Given the description of an element on the screen output the (x, y) to click on. 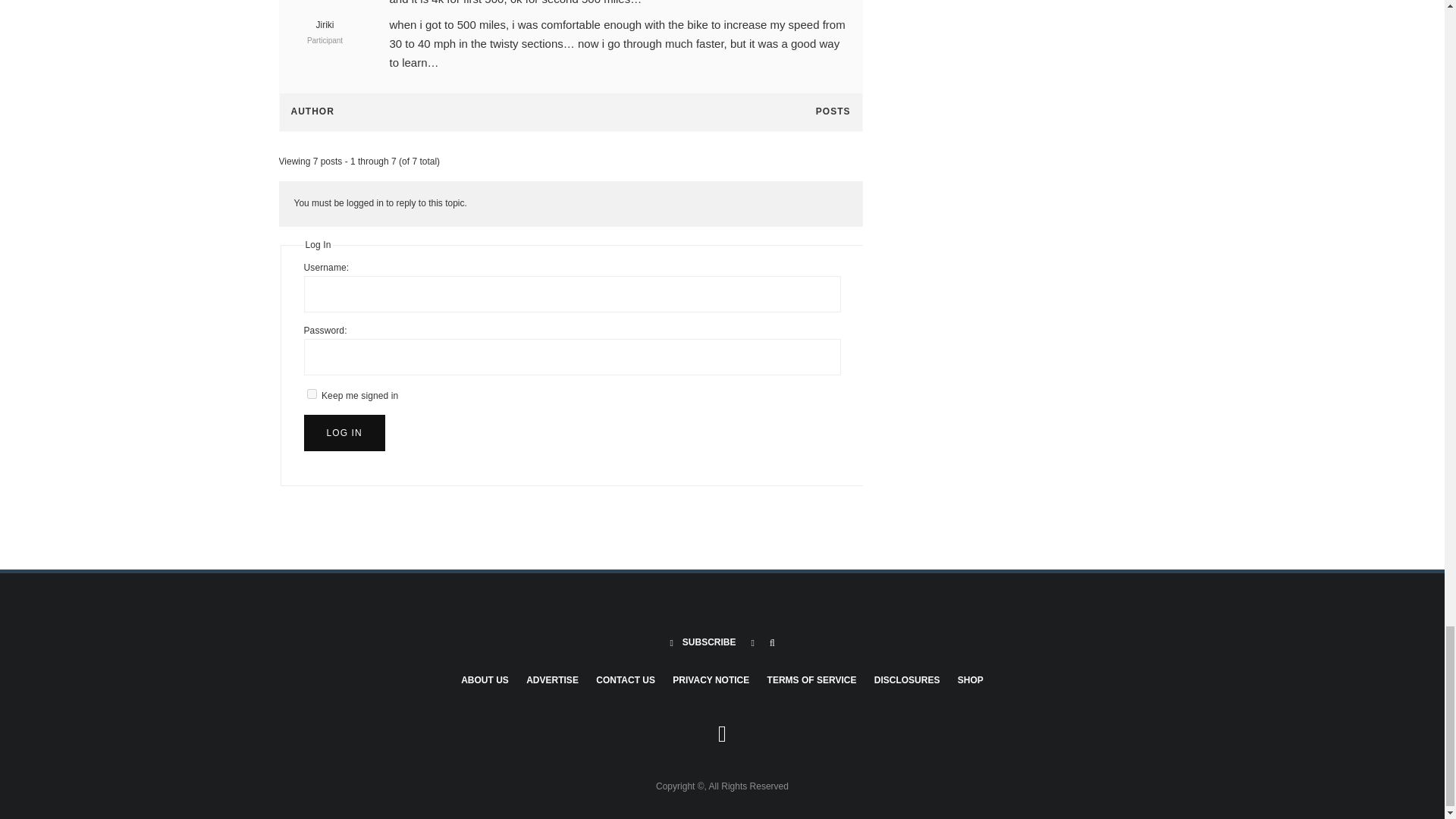
View Jiriki's profile (324, 17)
forever (310, 393)
